Given the description of an element on the screen output the (x, y) to click on. 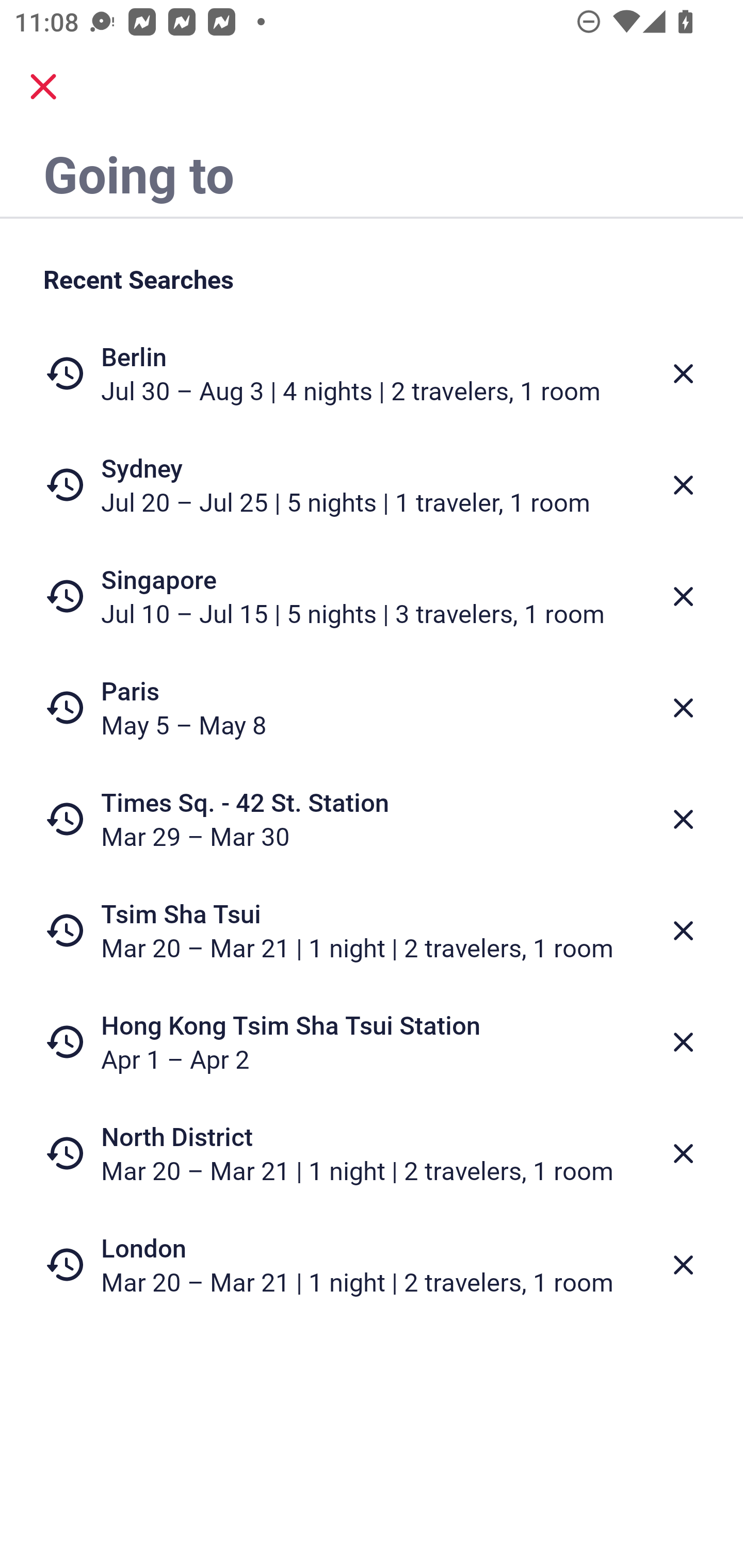
close. (43, 86)
Delete from recent searches (683, 373)
Delete from recent searches (683, 485)
Delete from recent searches (683, 596)
Paris May 5 – May 8 (371, 707)
Delete from recent searches (683, 707)
Times Sq. - 42 St. Station Mar 29 – Mar 30 (371, 818)
Delete from recent searches (683, 819)
Delete from recent searches (683, 930)
Hong Kong Tsim Sha Tsui Station Apr 1 – Apr 2 (371, 1041)
Delete from recent searches (683, 1041)
Delete from recent searches (683, 1153)
Delete from recent searches (683, 1265)
